Given the description of an element on the screen output the (x, y) to click on. 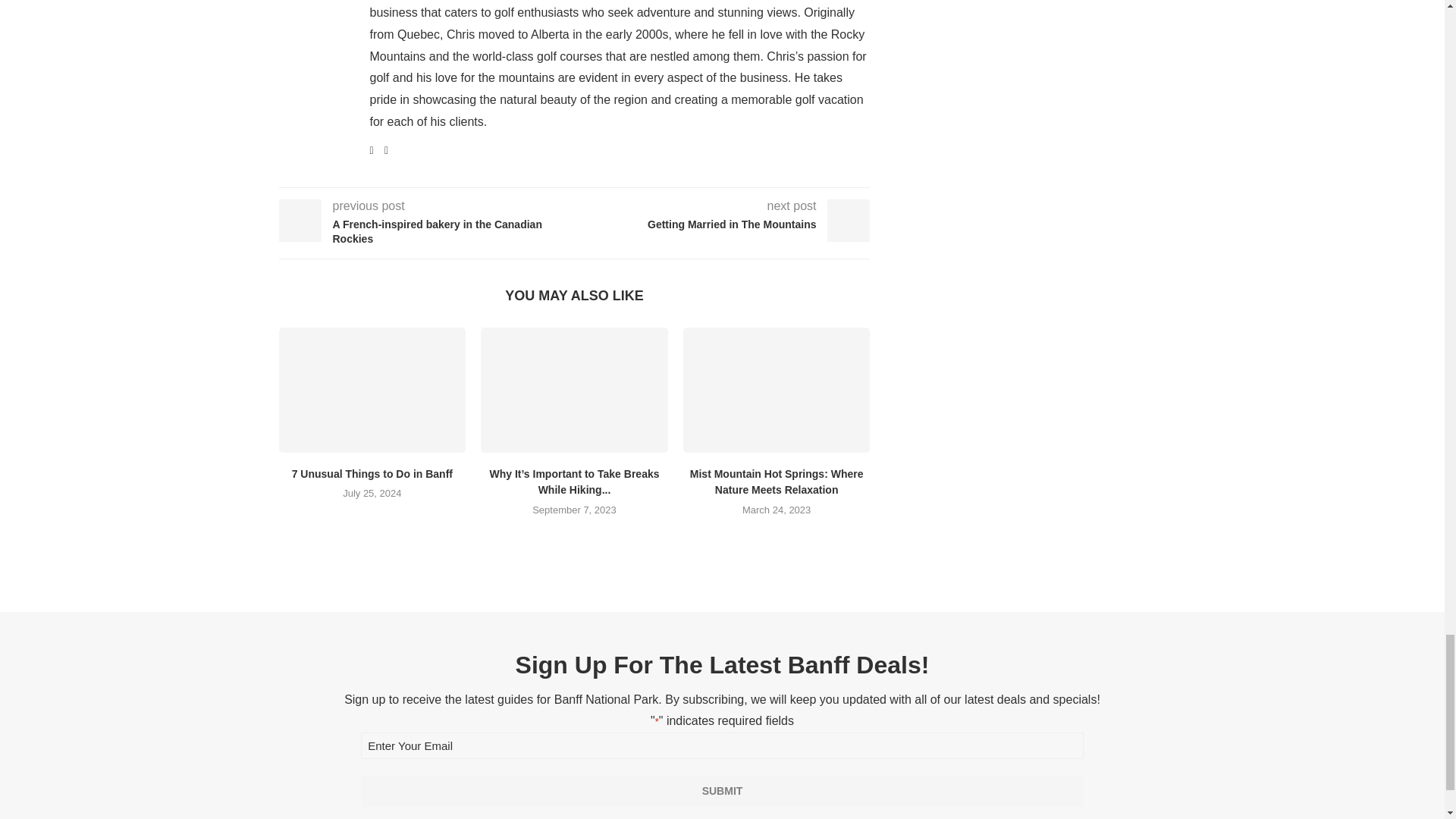
Submit (722, 790)
